Given the description of an element on the screen output the (x, y) to click on. 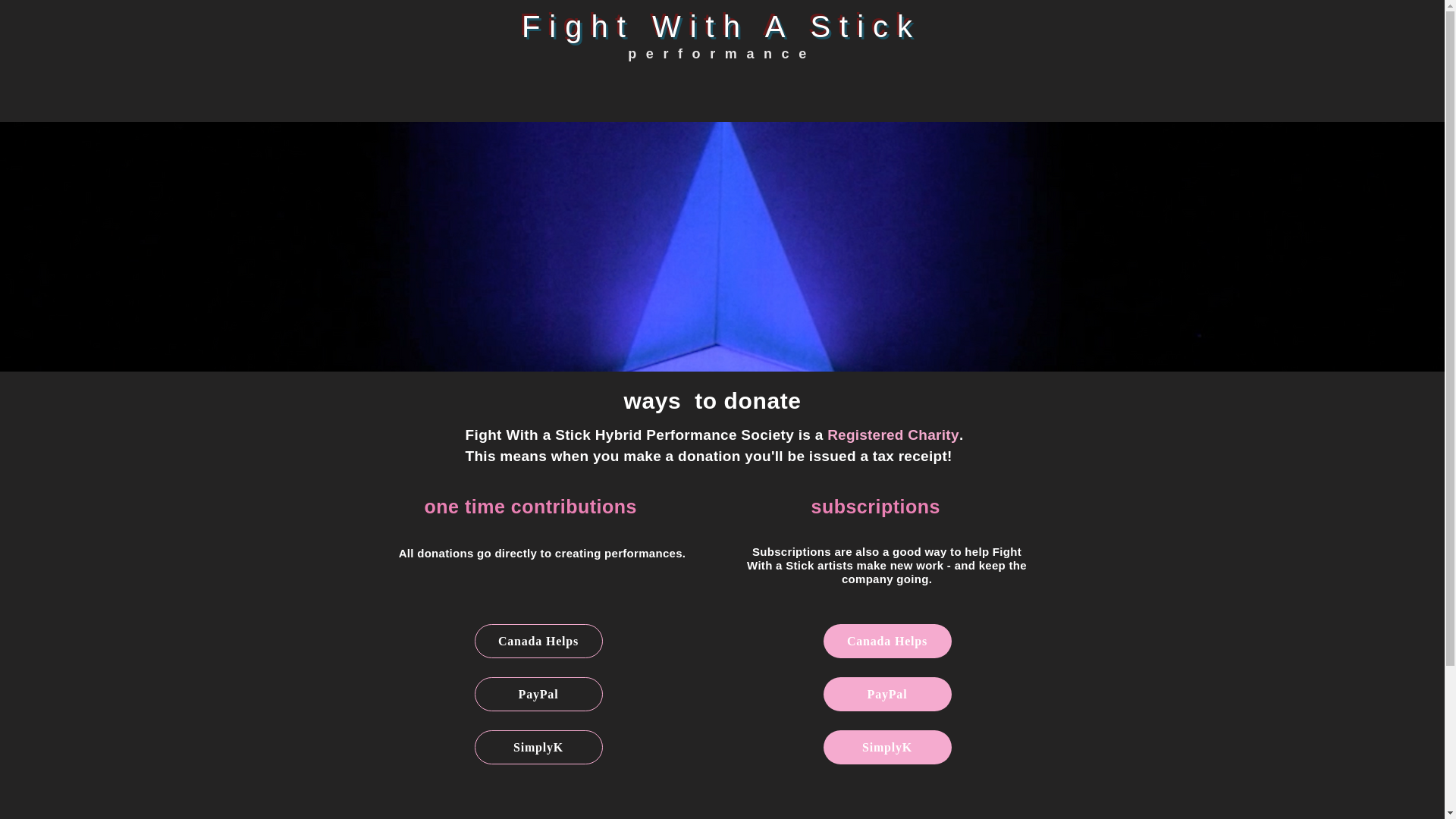
PayPal (538, 694)
Canada Helps (888, 641)
SimplyK (888, 747)
PayPal (888, 694)
performance (721, 53)
SimplyK (538, 747)
Canada Helps (538, 641)
Fight With A Stick (721, 26)
